Given the description of an element on the screen output the (x, y) to click on. 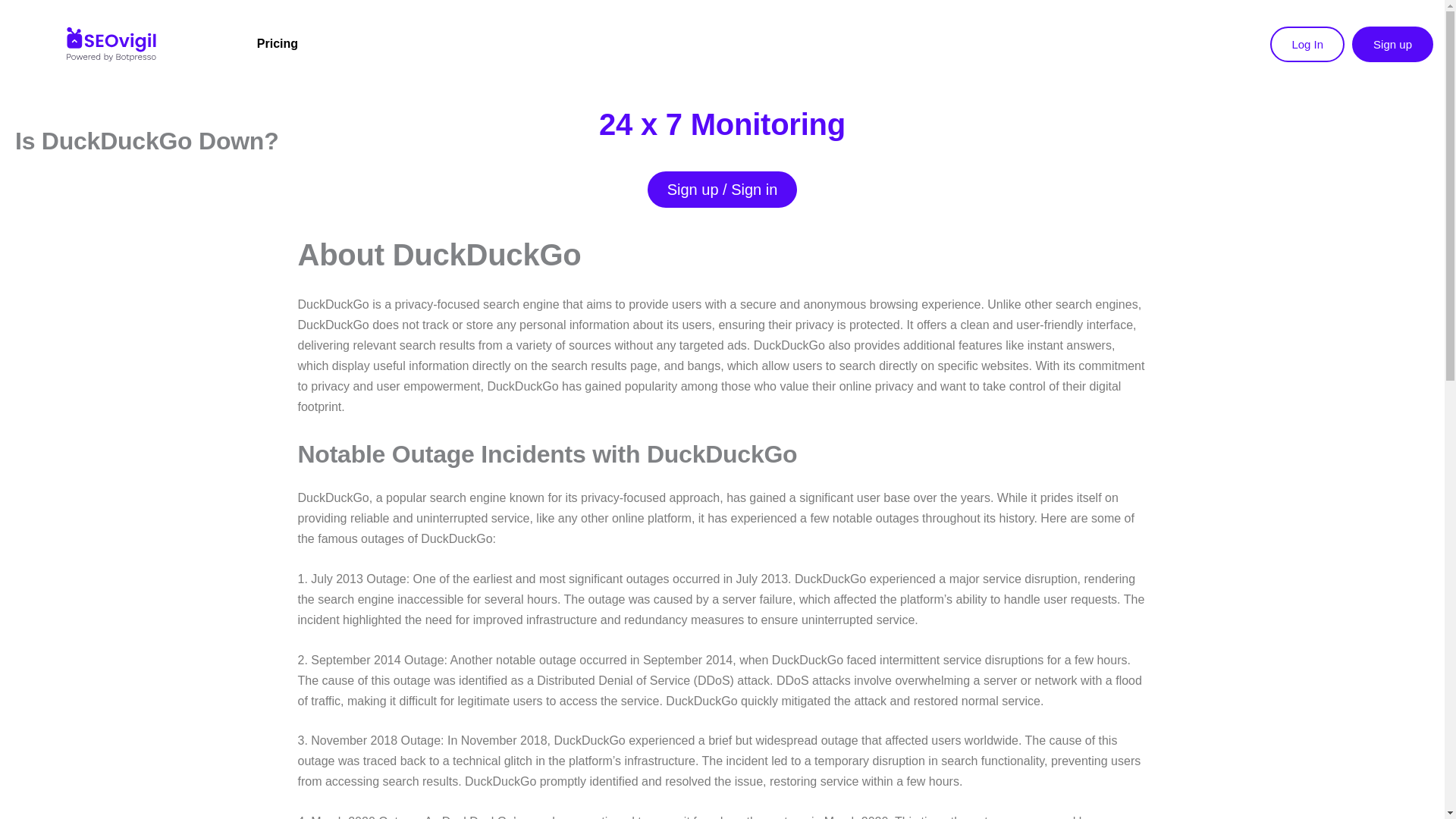
Pricing (277, 43)
Sign up (1392, 44)
Log In (1306, 44)
